Given the description of an element on the screen output the (x, y) to click on. 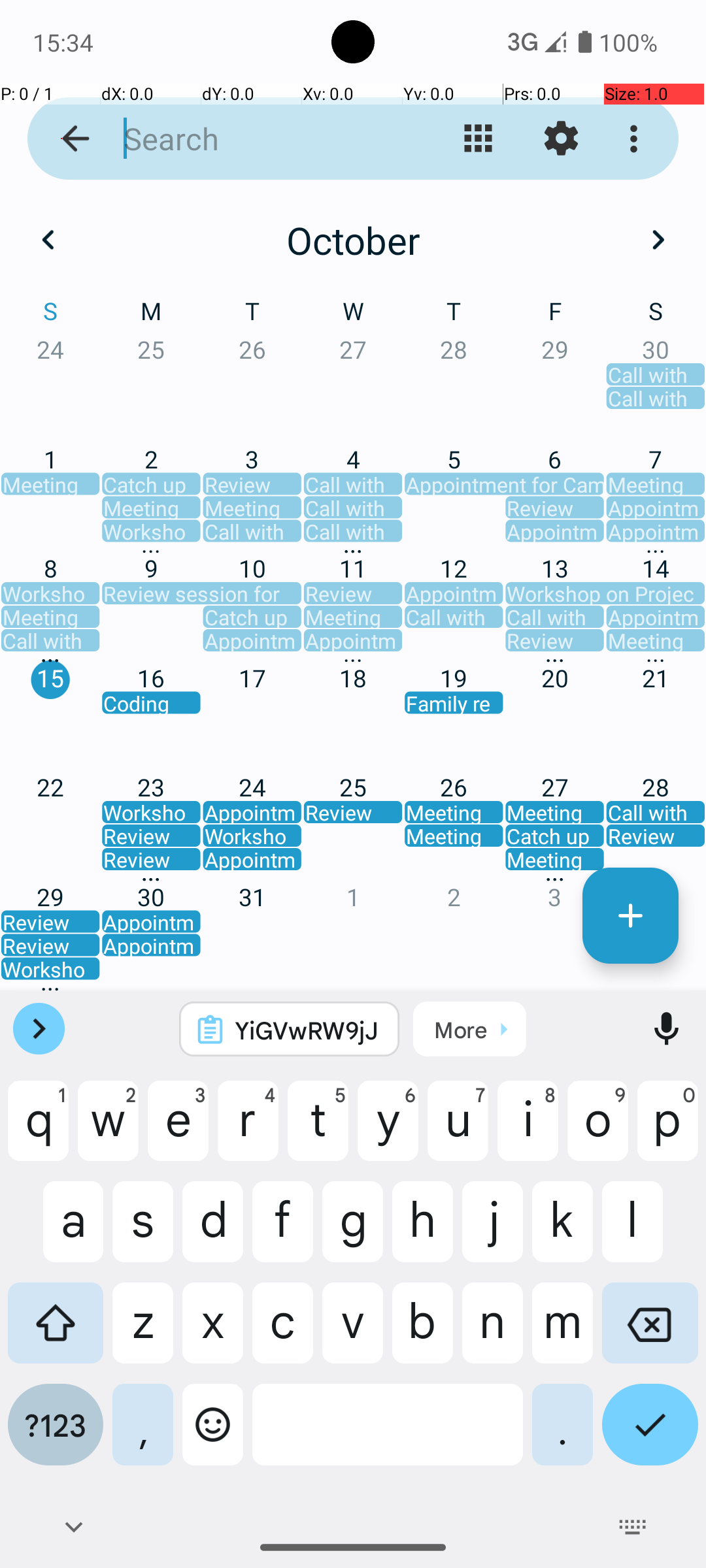
YiGVwRW9jJ Element type: android.widget.TextView (306, 1029)
